Given the description of an element on the screen output the (x, y) to click on. 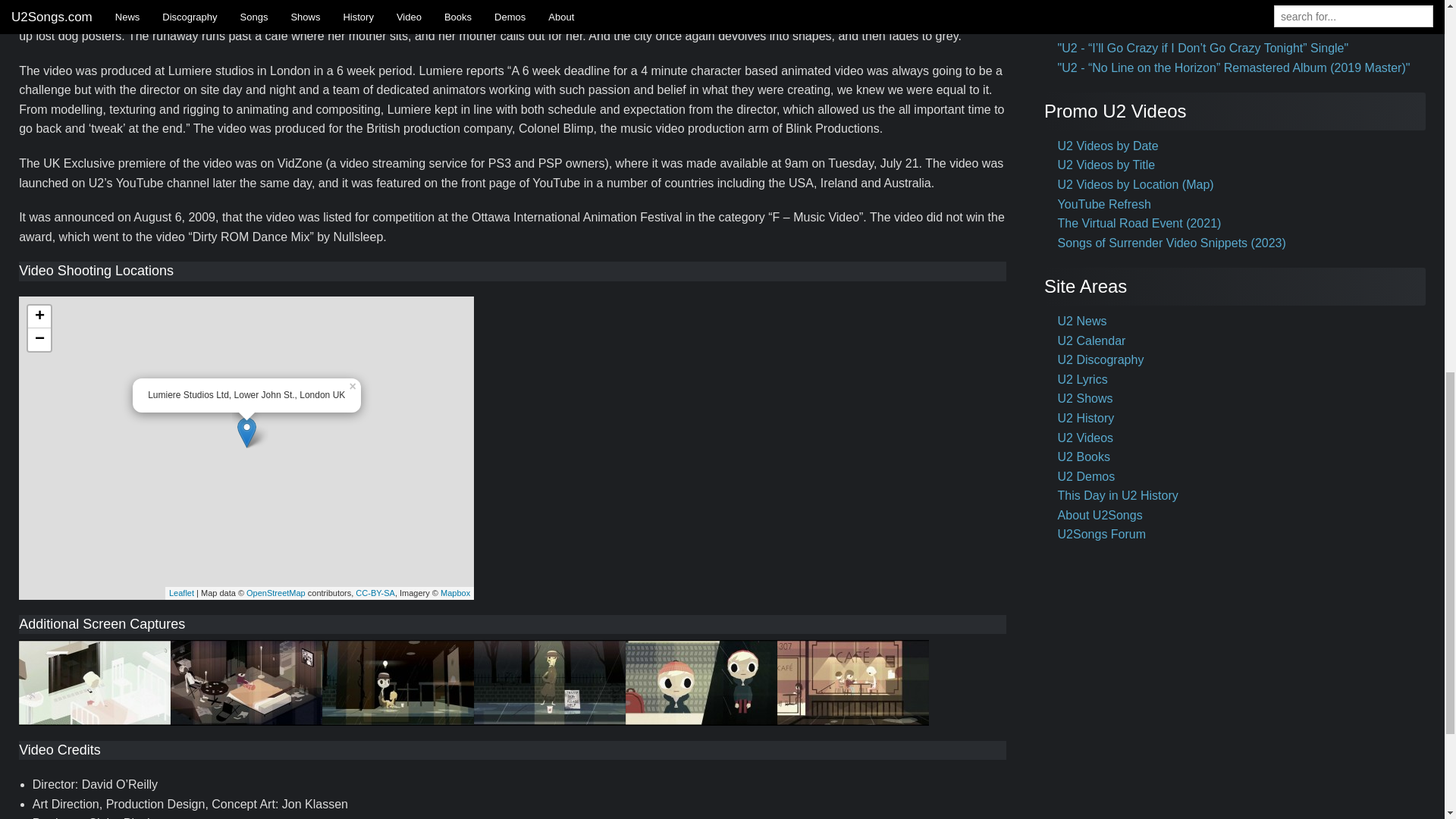
A JS library for interactive maps (180, 592)
Zoom out (38, 339)
Leaflet (180, 592)
CC-BY-SA (374, 592)
YouTube Refresh (1104, 204)
Zoom in (38, 316)
U2 Videos by Date (1108, 145)
U2 Discography (1101, 359)
U2 Videos by Title (1107, 164)
OpenStreetMap (275, 592)
U2 News (1082, 320)
U2 Lyrics (1083, 379)
Mapbox (455, 592)
U2 Calendar (1091, 340)
